Given the description of an element on the screen output the (x, y) to click on. 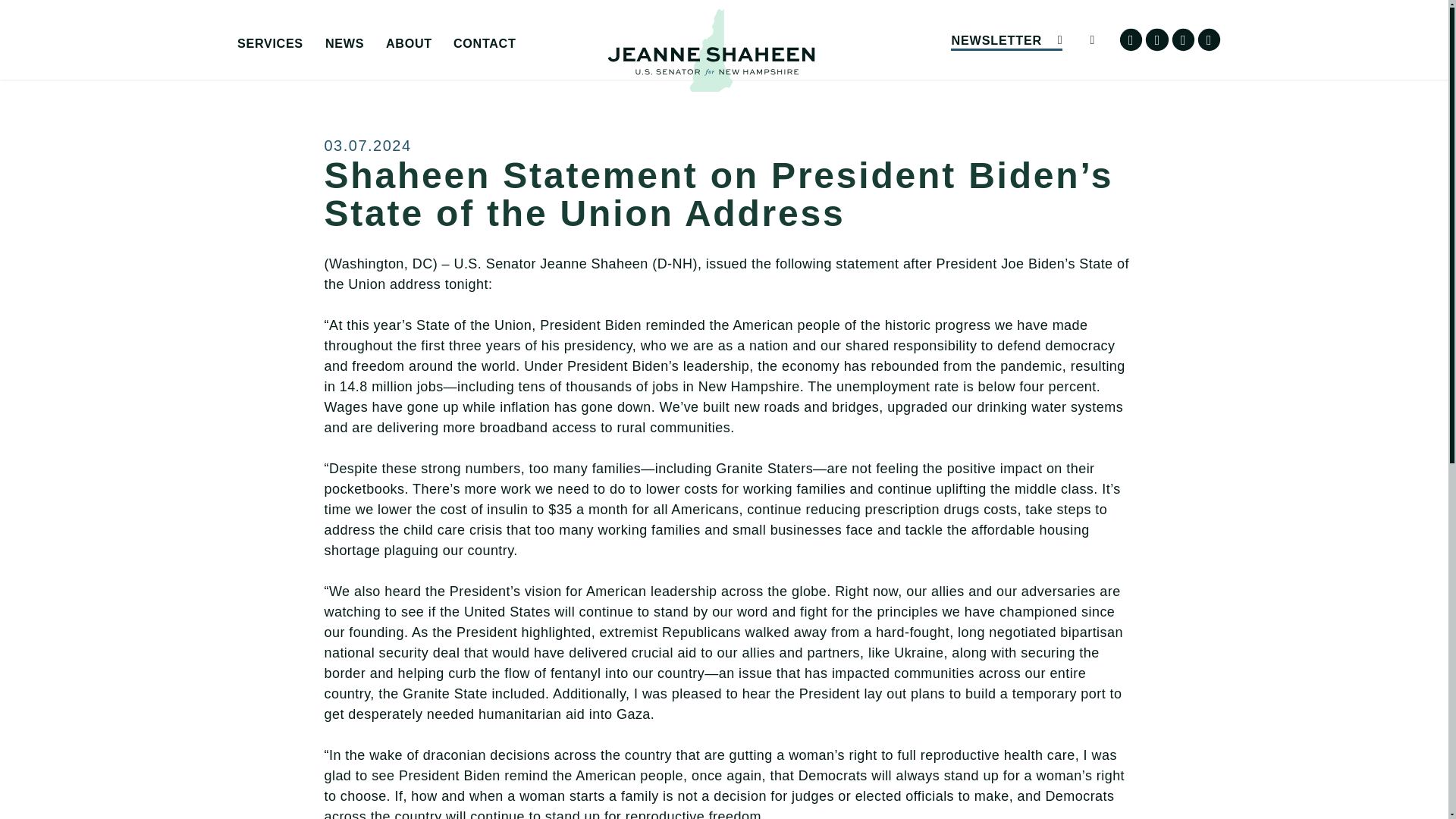
Help With A Federal Agency (350, 66)
NEWSLETTER (1006, 39)
Congressionally Directed Spending Requests (350, 73)
CONTACT (483, 44)
Press Releases (438, 66)
Skip to content (26, 26)
SERVICES (269, 44)
NEWS (344, 44)
Contact Jeanne (566, 66)
Biography (498, 66)
ABOUT (408, 44)
